Given the description of an element on the screen output the (x, y) to click on. 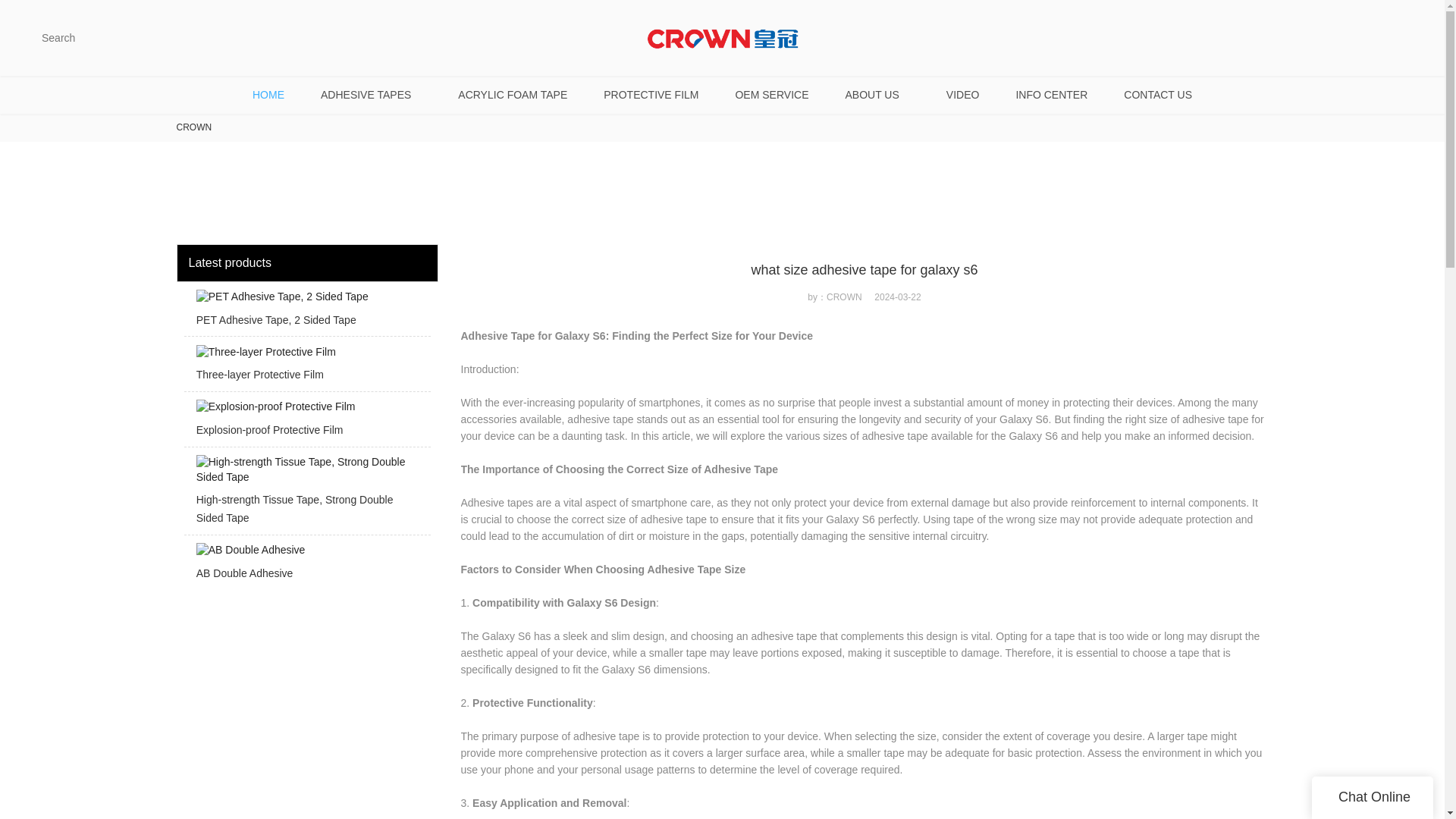
AB Double Adhesive (306, 565)
CONTACT US (1157, 94)
Three-layer Protective Film (306, 367)
VIDEO (962, 94)
OEM SERVICE (771, 94)
Explosion-proof Protective Film (306, 422)
High-strength Tissue Tape, Strong Double Sided Tape (306, 494)
PROTECTIVE FILM (650, 94)
ACRYLIC FOAM TAPE (512, 94)
INFO CENTER (1051, 94)
